Given the description of an element on the screen output the (x, y) to click on. 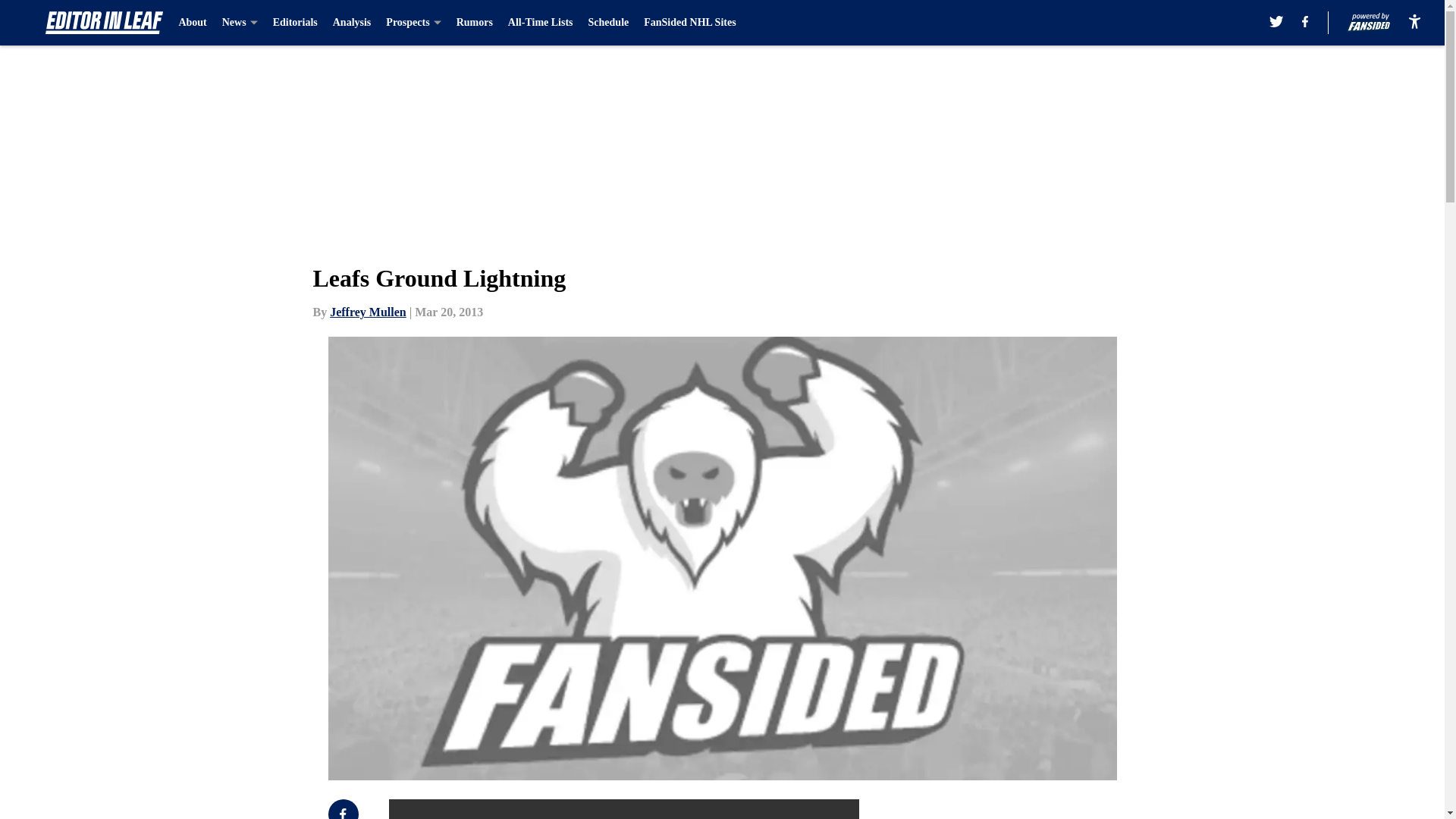
Editorials (295, 22)
Rumors (475, 22)
About (191, 22)
Analysis (352, 22)
Schedule (608, 22)
FanSided NHL Sites (689, 22)
3rd party ad content (1047, 809)
All-Time Lists (540, 22)
Jeffrey Mullen (368, 311)
